Given the description of an element on the screen output the (x, y) to click on. 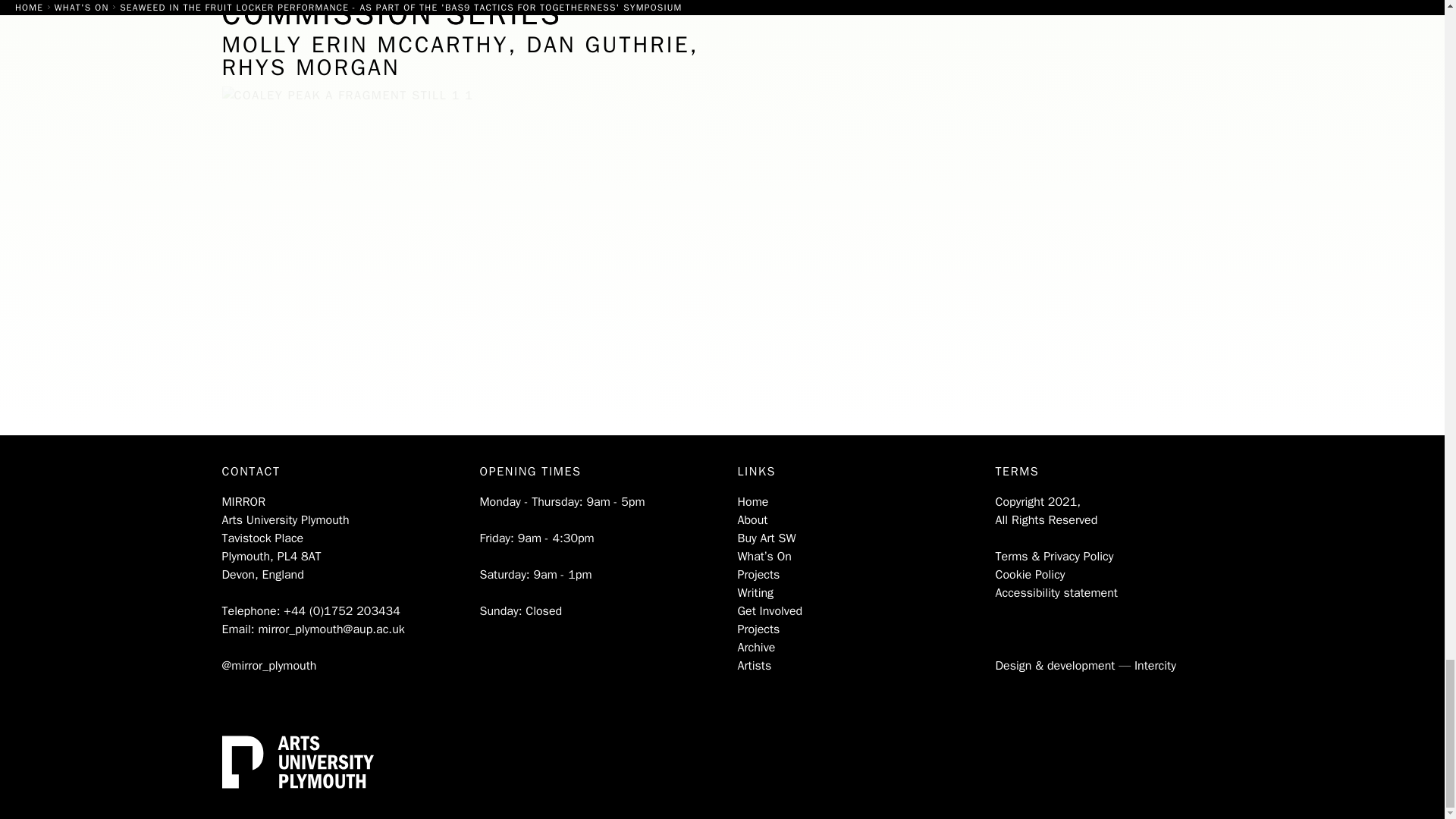
Intercity (1155, 665)
Buy Art SW (765, 547)
Writing (757, 602)
Cookie Policy (1053, 583)
Accessibility statement (1055, 602)
Artists (755, 674)
Home (752, 501)
Projects (769, 638)
Get Involved (769, 620)
Projects (763, 583)
About (752, 529)
Archive (757, 656)
